Given the description of an element on the screen output the (x, y) to click on. 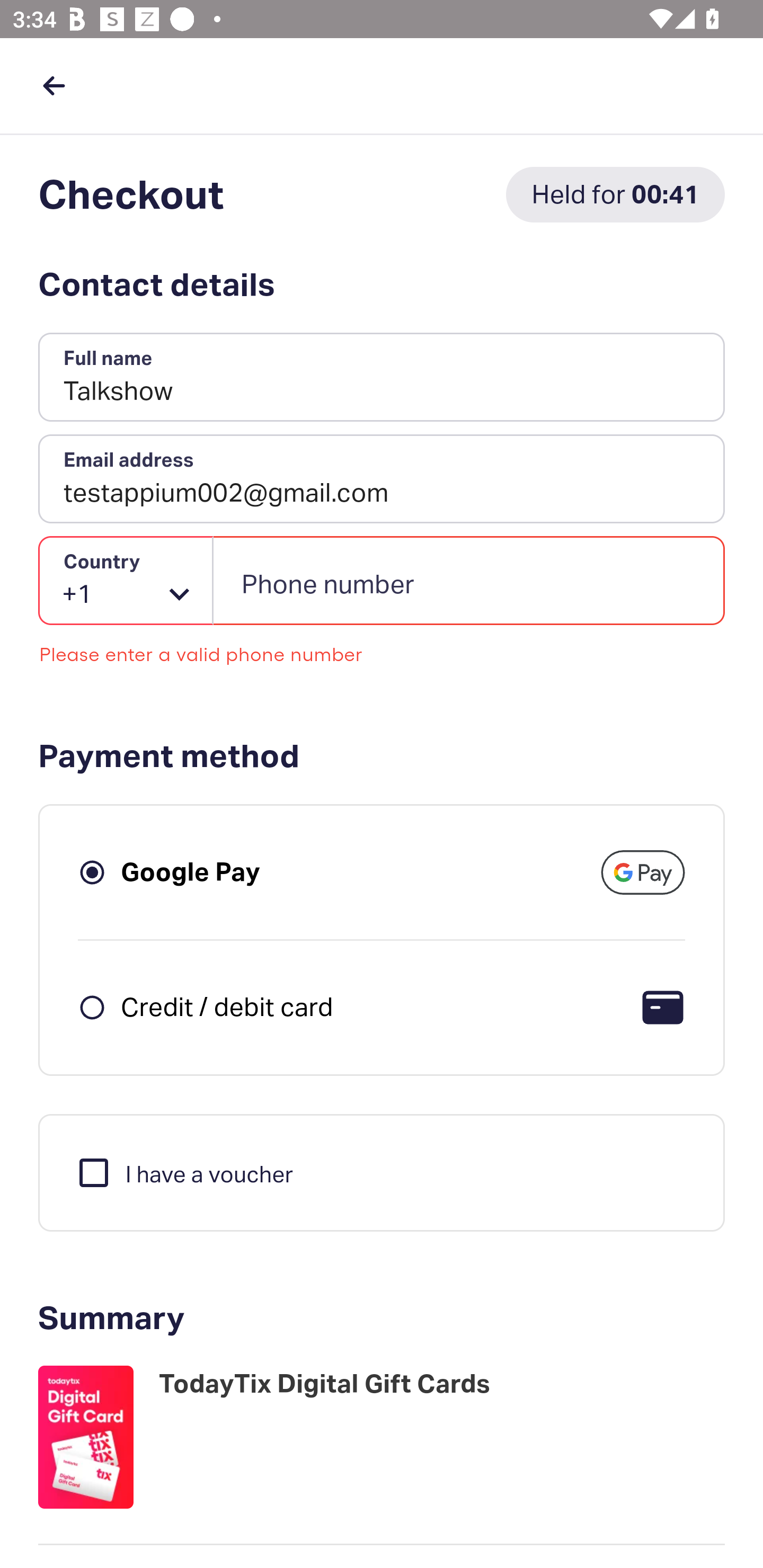
back button (53, 85)
Talkshow (381, 377)
testappium002@gmail.com (381, 478)
  +1 (126, 580)
Google Pay (190, 871)
Credit / debit card (227, 1006)
I have a voucher (183, 1171)
